Given the description of an element on the screen output the (x, y) to click on. 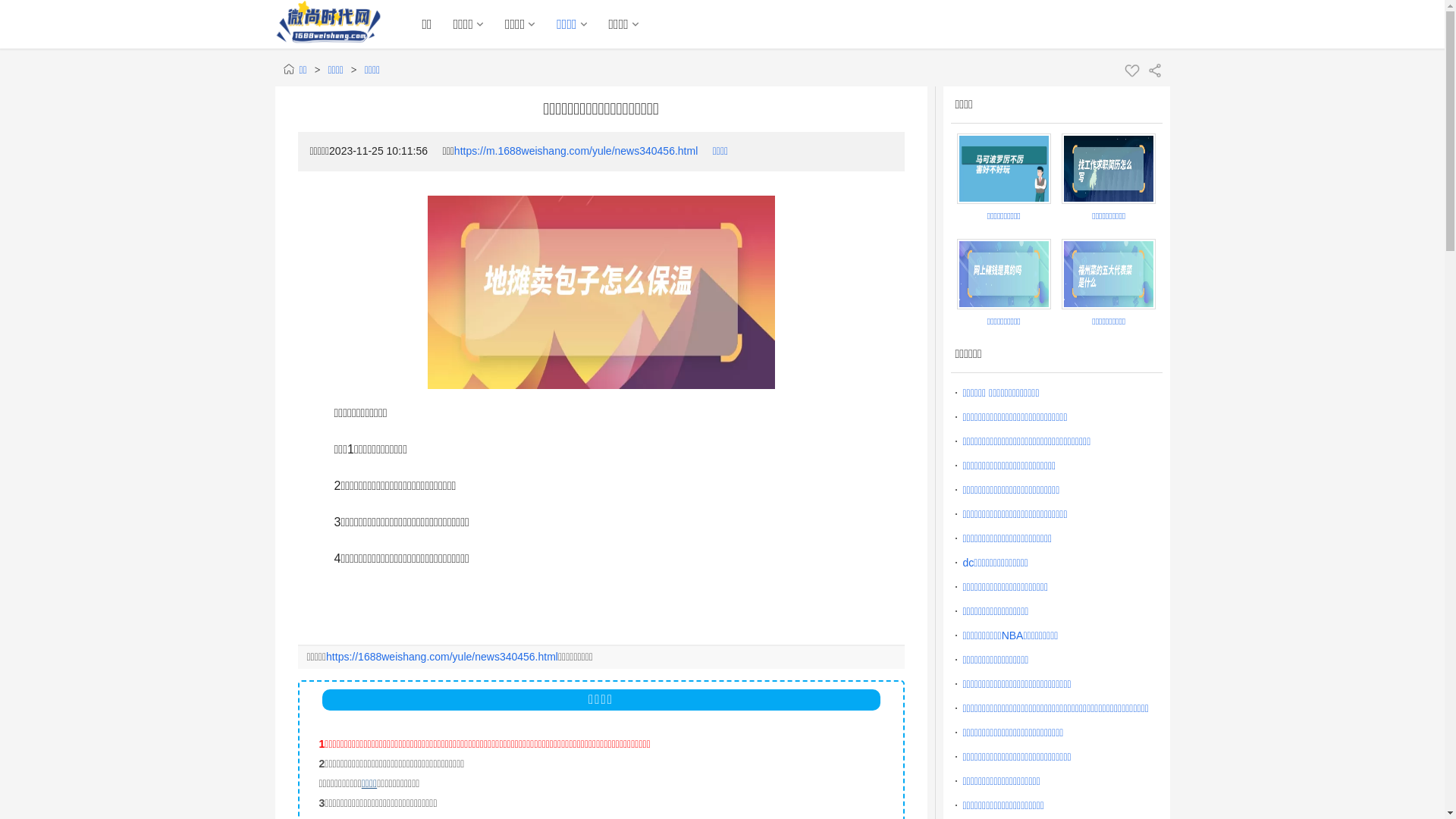
https://1688weishang.com/yule/news340456.html Element type: text (442, 656)
https://m.1688weishang.com/yule/news340456.html Element type: text (575, 150)
